Given the description of an element on the screen output the (x, y) to click on. 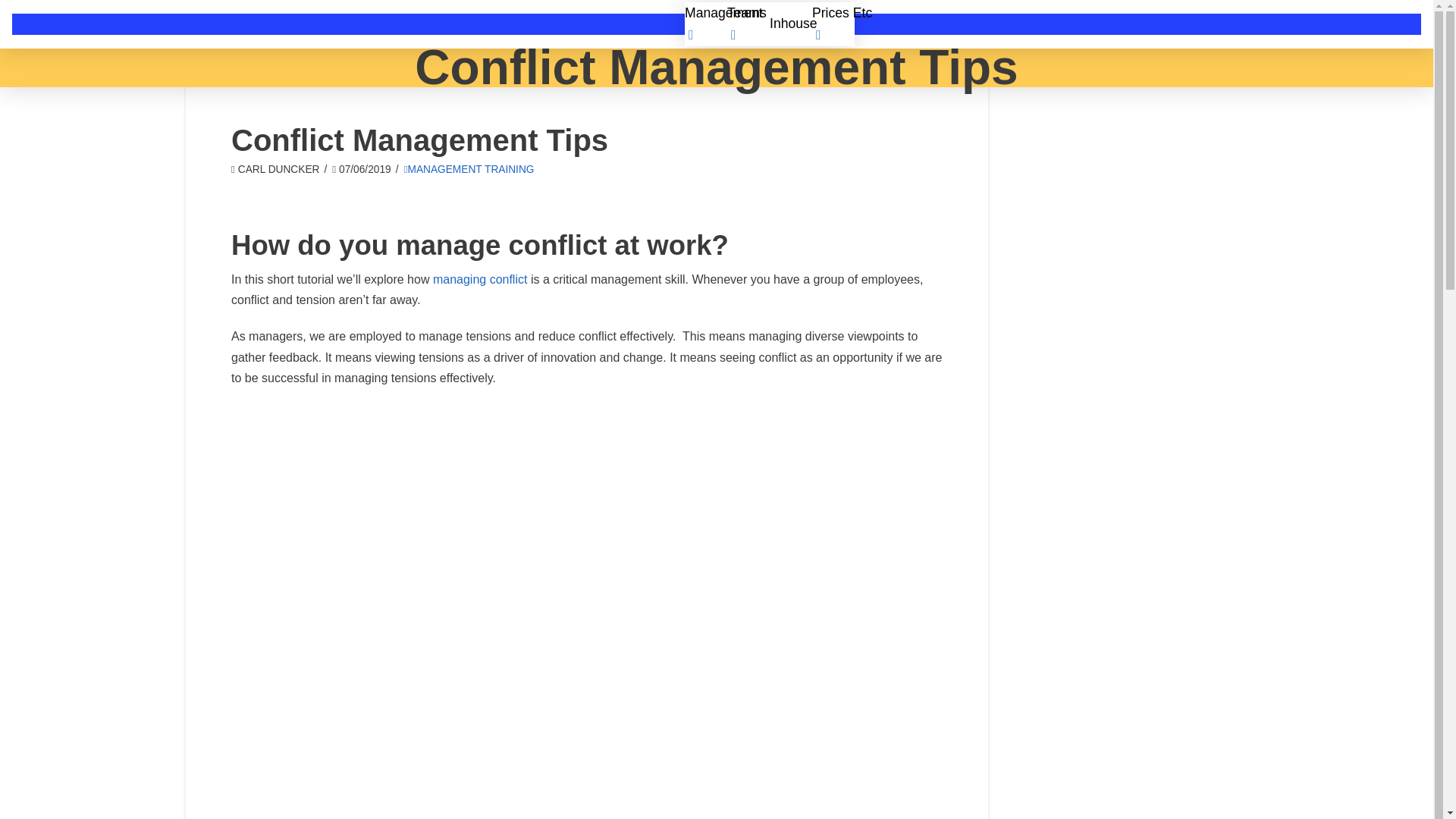
Management Courses (798, 23)
Teams (840, 23)
MANAGEMENT TRAINING (468, 169)
managing conflict (481, 278)
Management (798, 23)
Inhouse (883, 23)
Prices Etc (925, 23)
